Given the description of an element on the screen output the (x, y) to click on. 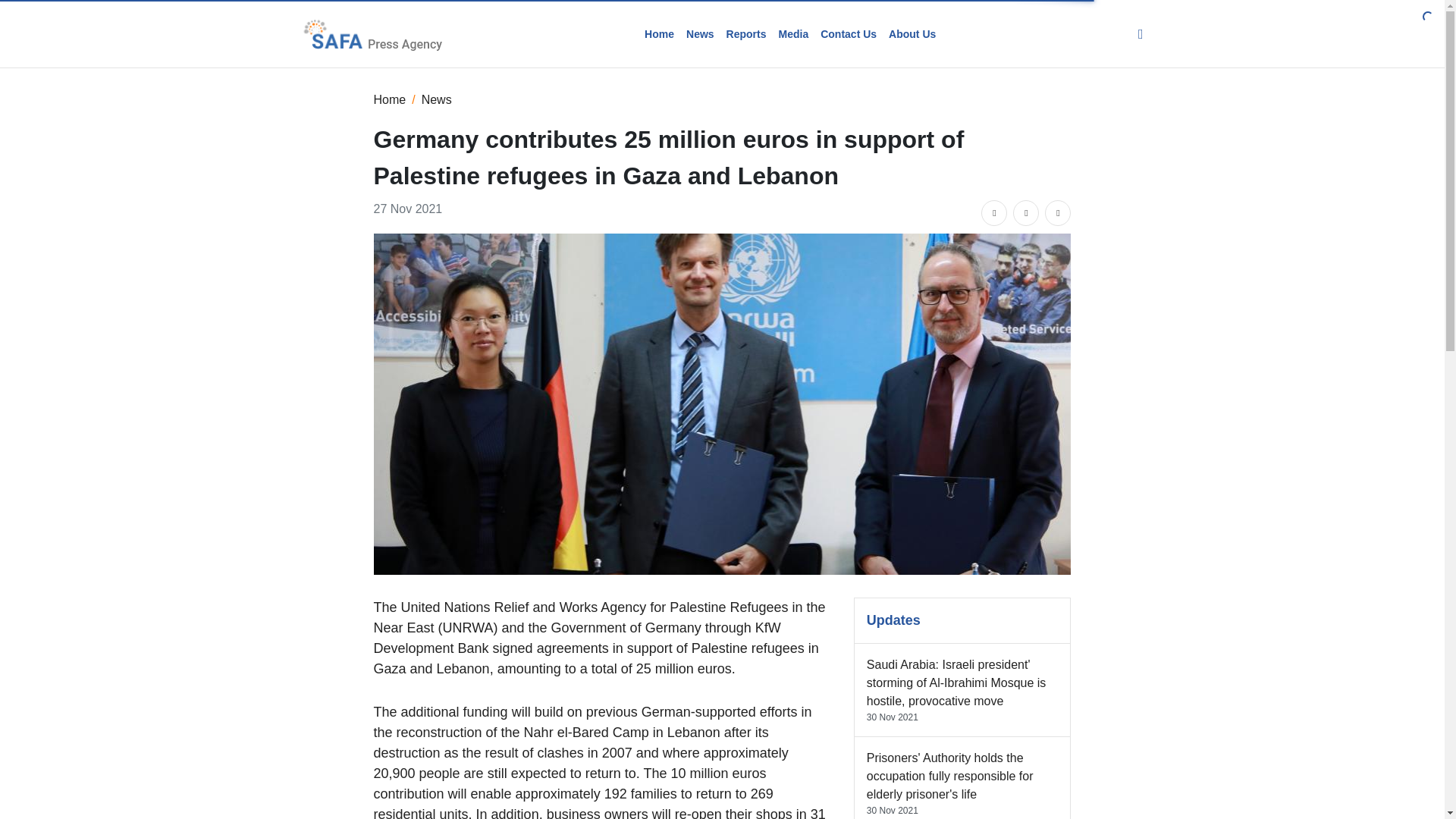
News (699, 33)
News (436, 99)
Home (389, 99)
Media (792, 33)
Home (659, 33)
About Us (912, 33)
Reports (746, 33)
Contact Us (848, 33)
